Given the description of an element on the screen output the (x, y) to click on. 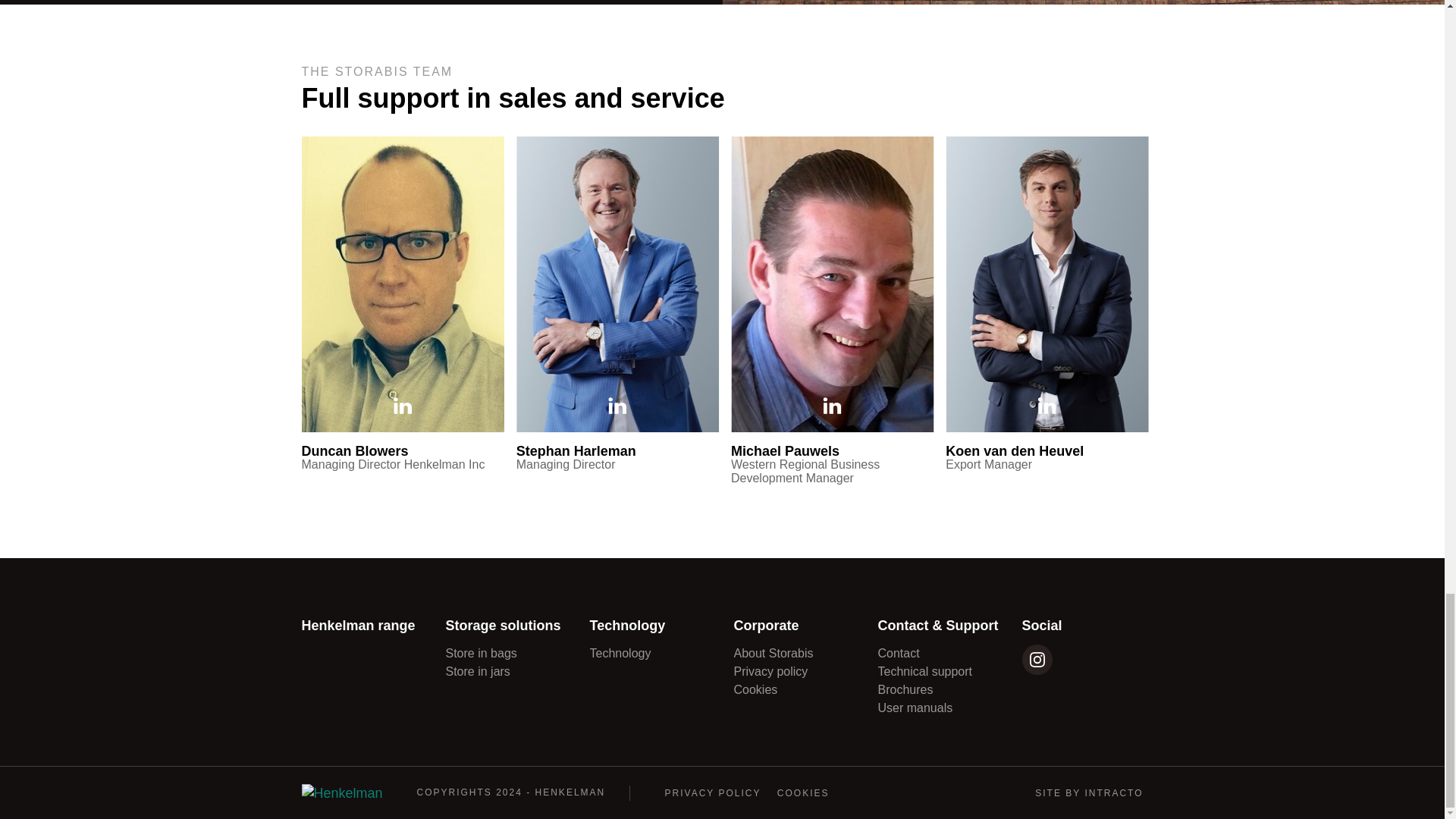
About Storabis (773, 653)
Technology (619, 653)
Store in jars (478, 671)
Store in bags (480, 653)
